Given the description of an element on the screen output the (x, y) to click on. 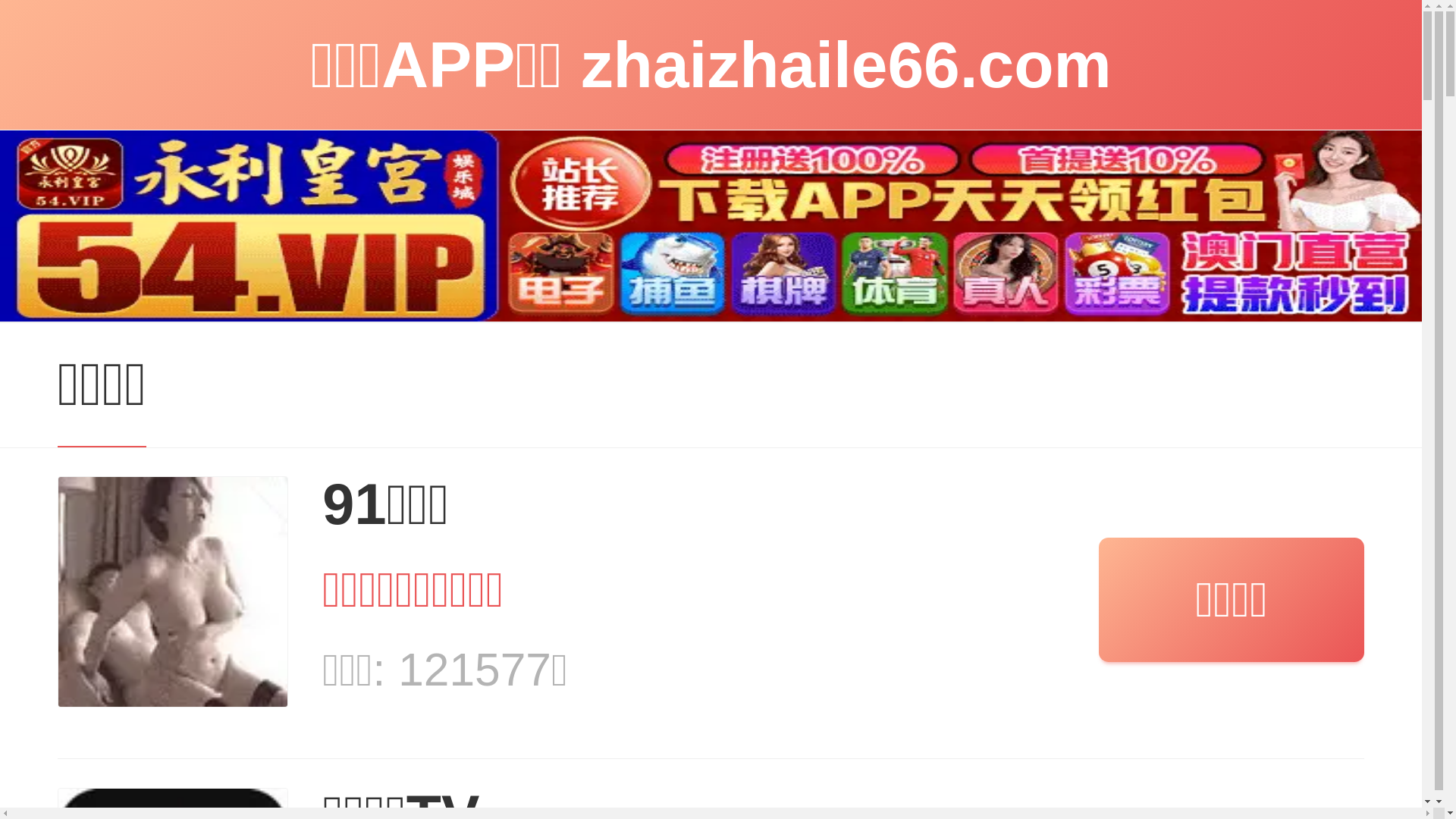
Skip to content (Press Enter) Element type: text (0, 0)
1 Element type: text (385, 153)
admin Element type: text (353, 153)
